Given the description of an element on the screen output the (x, y) to click on. 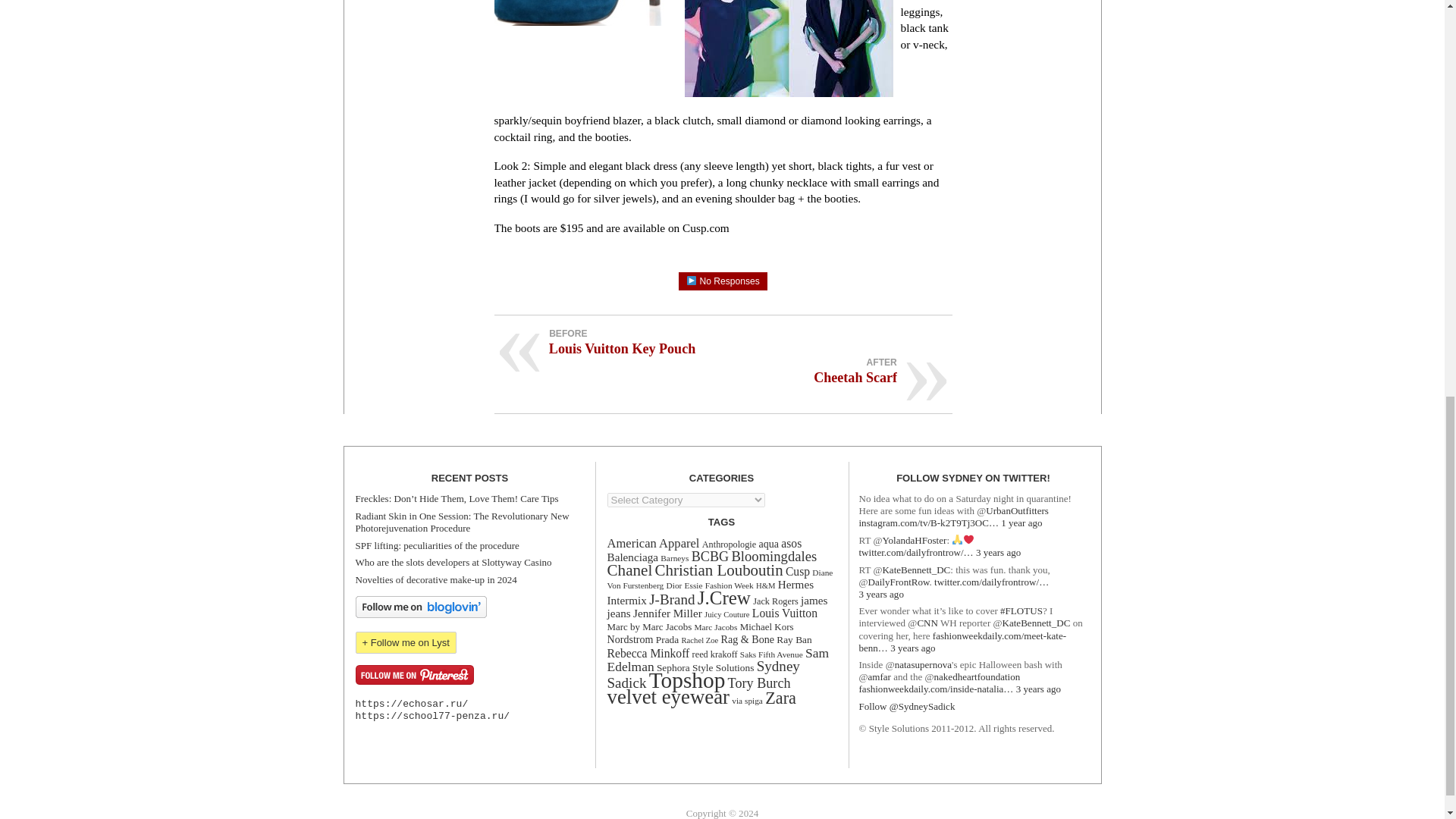
Bloomingdales (773, 555)
Barneys (674, 557)
Who are the slots developers at Slottyway Casino (453, 562)
Style Solutions on Bloglovin (420, 614)
Balenciaga (632, 556)
American Apparel (652, 543)
aqua (768, 543)
SPF lifting: peculiarities of the procedure (436, 545)
BCBG (710, 556)
images-12 (586, 12)
Diane Von Furstenberg (719, 578)
No Responses (722, 280)
asos (791, 543)
images-8 (788, 48)
